Given the description of an element on the screen output the (x, y) to click on. 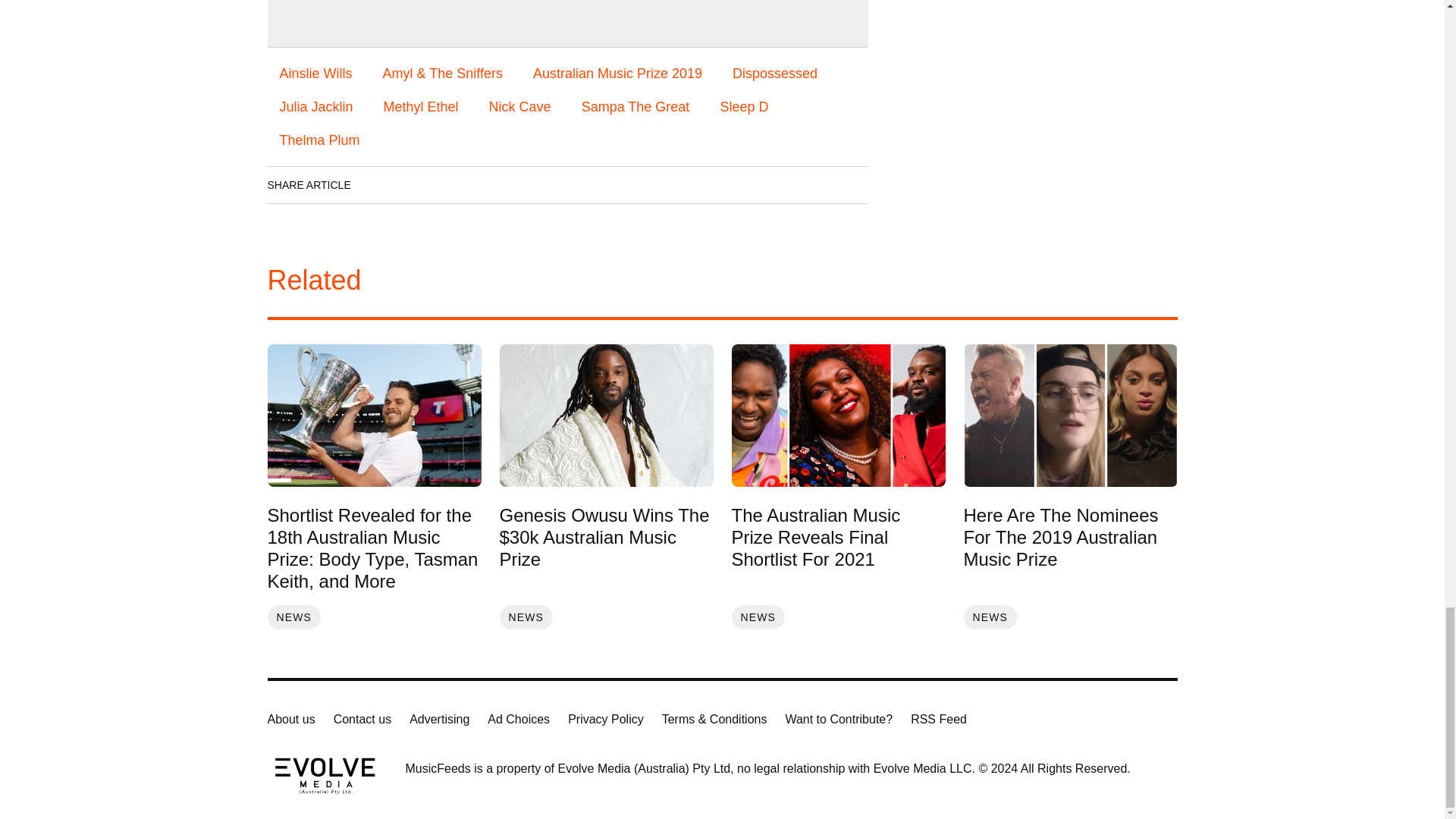
Sampa The Great (635, 106)
Ainslie Wills (315, 72)
Nick Cave (520, 106)
Methyl Ethel (420, 106)
Julia Jacklin (315, 106)
Dispossessed (774, 72)
Australian Music Prize 2019 (617, 72)
